Given the description of an element on the screen output the (x, y) to click on. 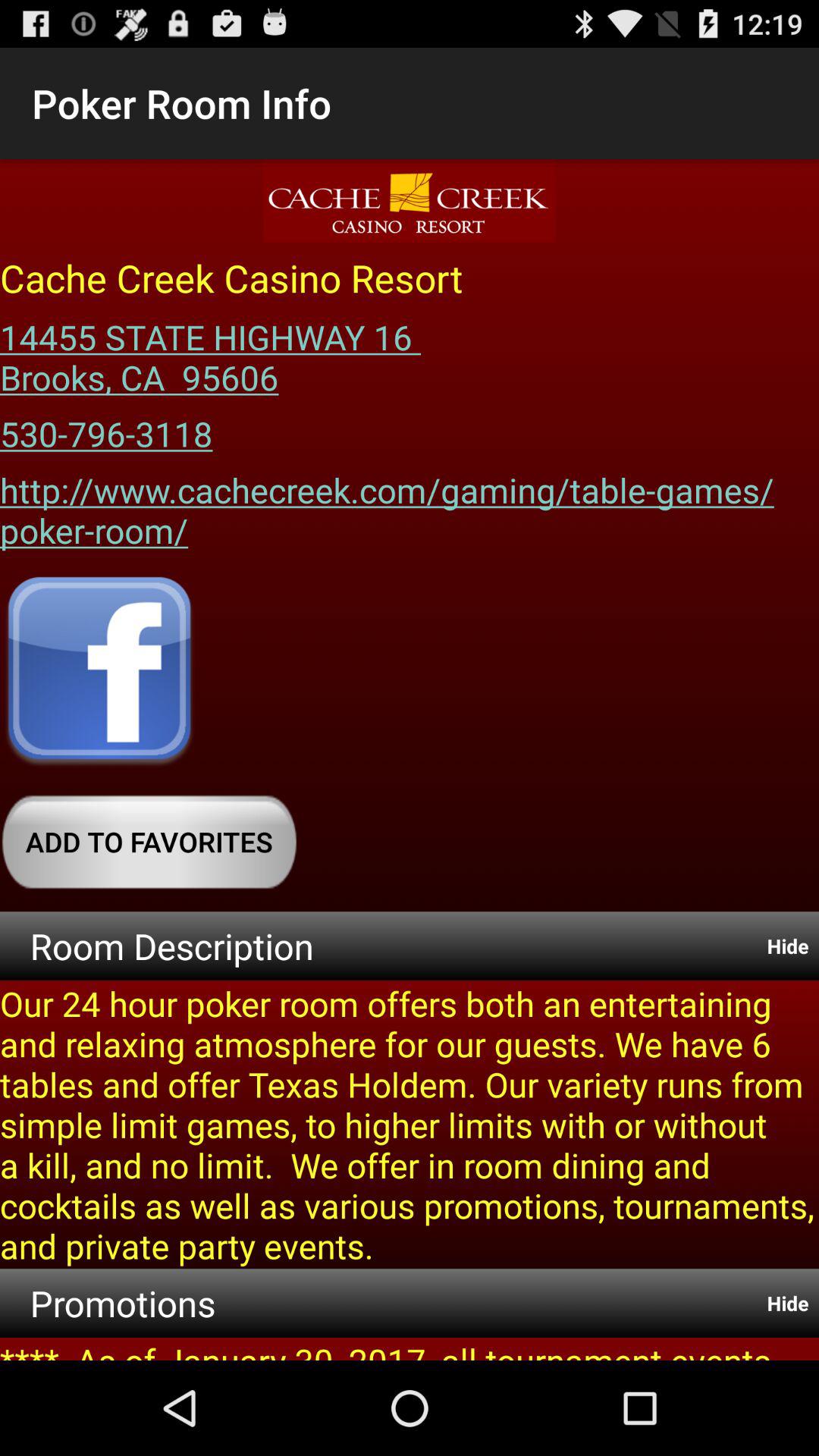
swipe to the 14455 state highway app (215, 351)
